Given the description of an element on the screen output the (x, y) to click on. 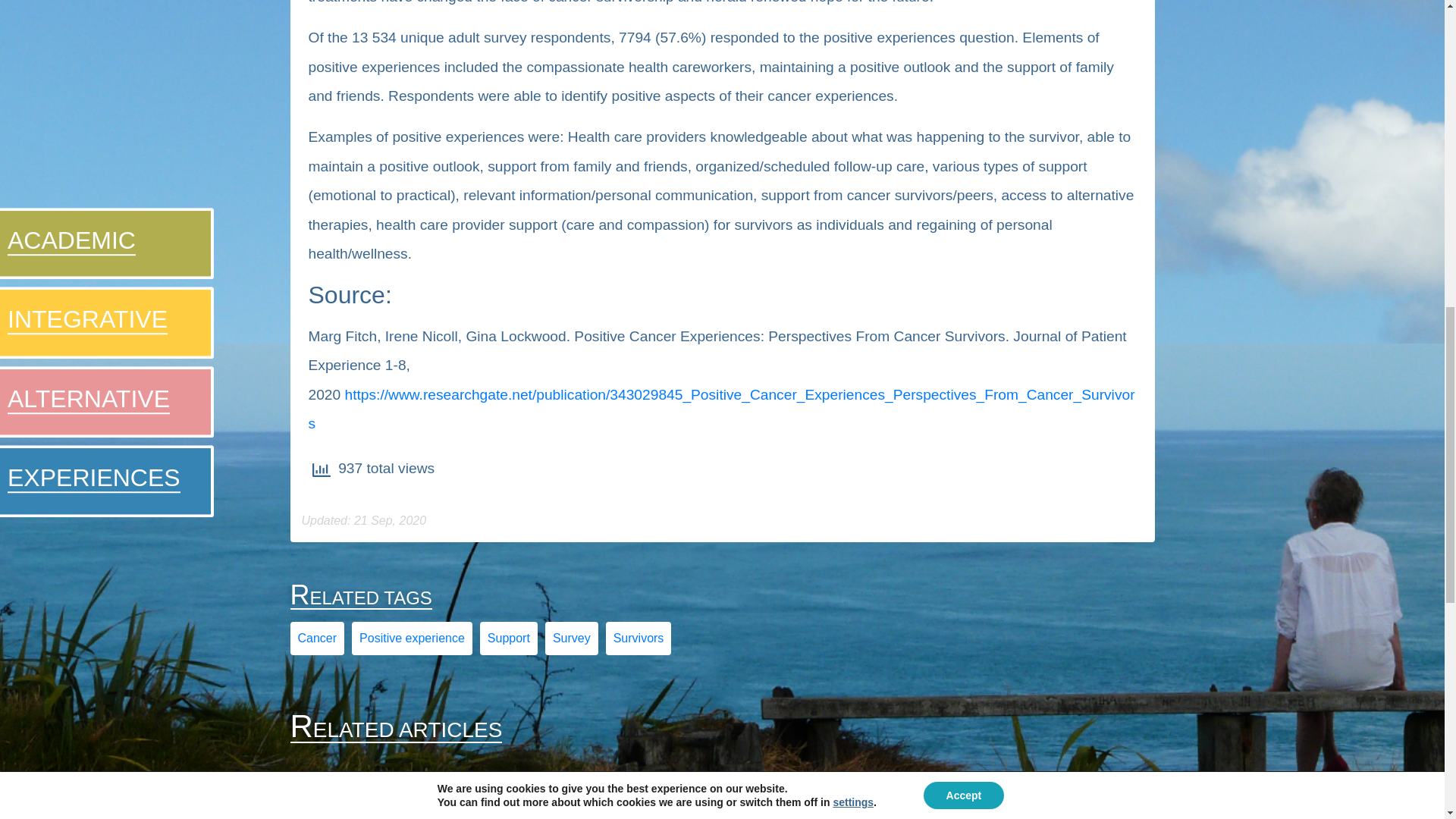
Cancer (316, 637)
Support (508, 637)
Positive experience (411, 637)
Survey (572, 637)
Survivors (637, 637)
